Given the description of an element on the screen output the (x, y) to click on. 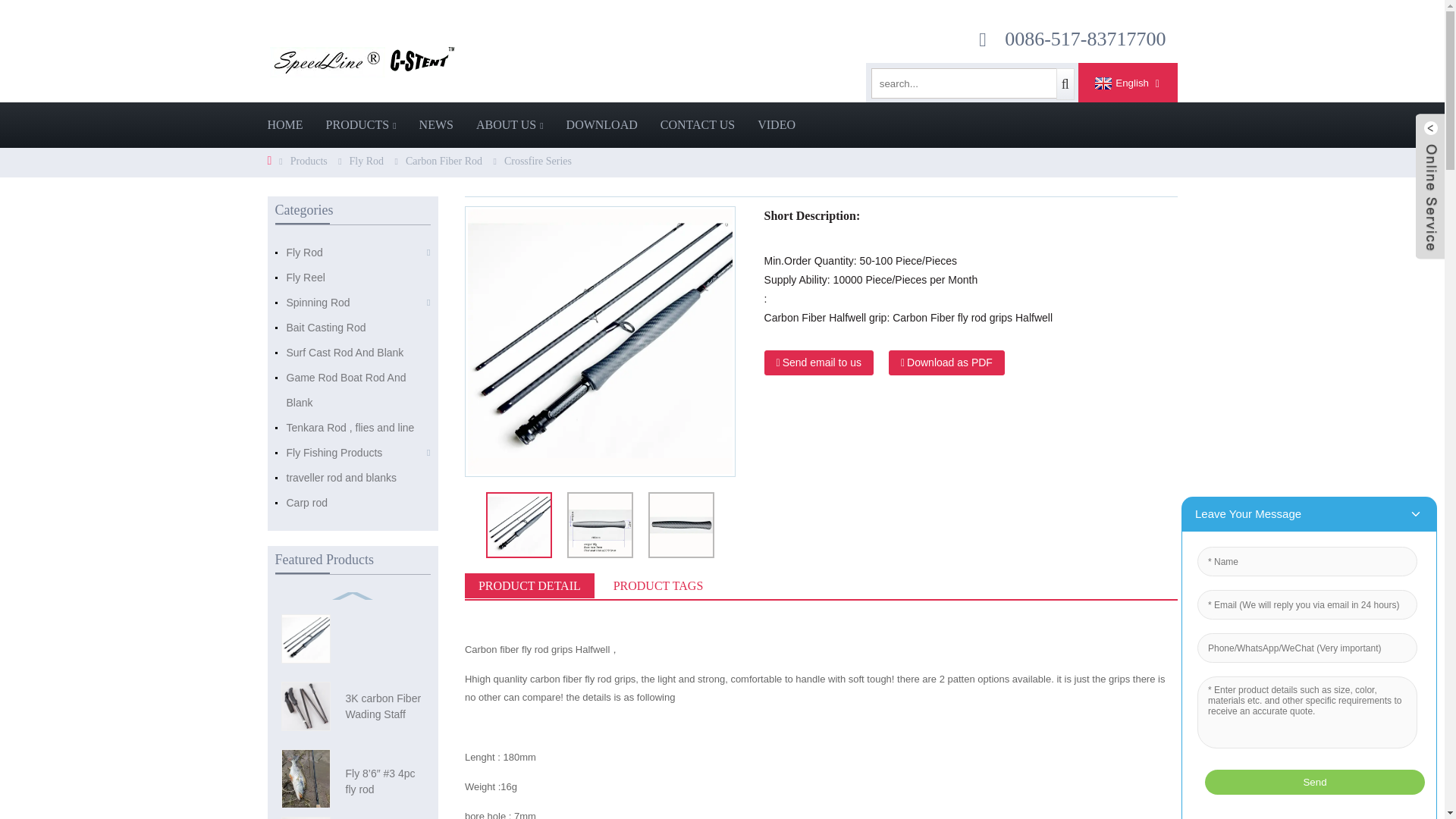
Carbon Fiber Rod (443, 161)
Crossfire Series (537, 161)
Products (308, 161)
Fly Rod (366, 161)
PRODUCTS (361, 125)
English (1119, 82)
0086-517-83717700 (1085, 38)
